Given the description of an element on the screen output the (x, y) to click on. 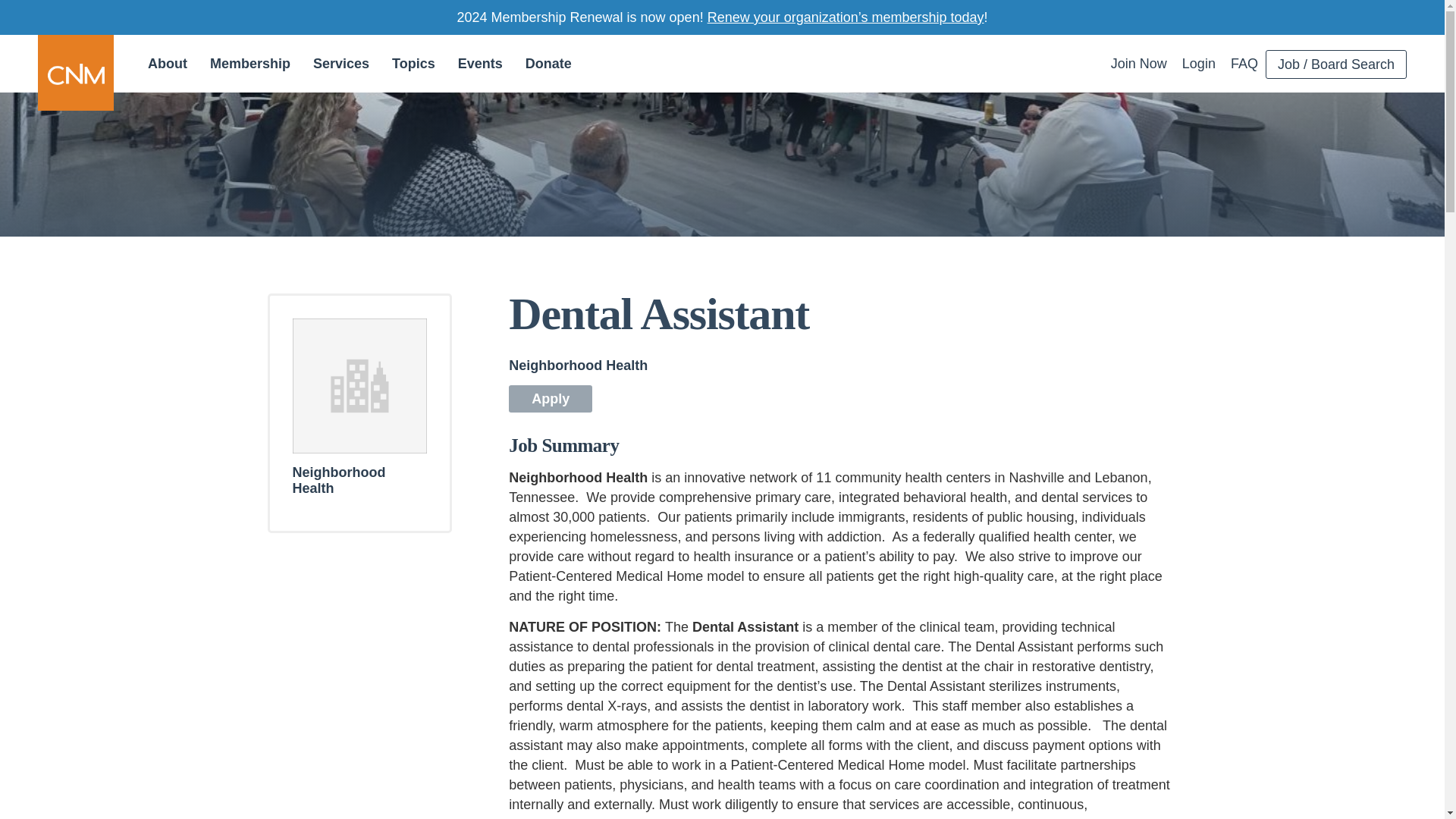
Services (340, 63)
Membership (249, 63)
About (167, 63)
Topics (413, 63)
FAQ (1244, 62)
Join Now (1138, 62)
Login (1198, 62)
